Given the description of an element on the screen output the (x, y) to click on. 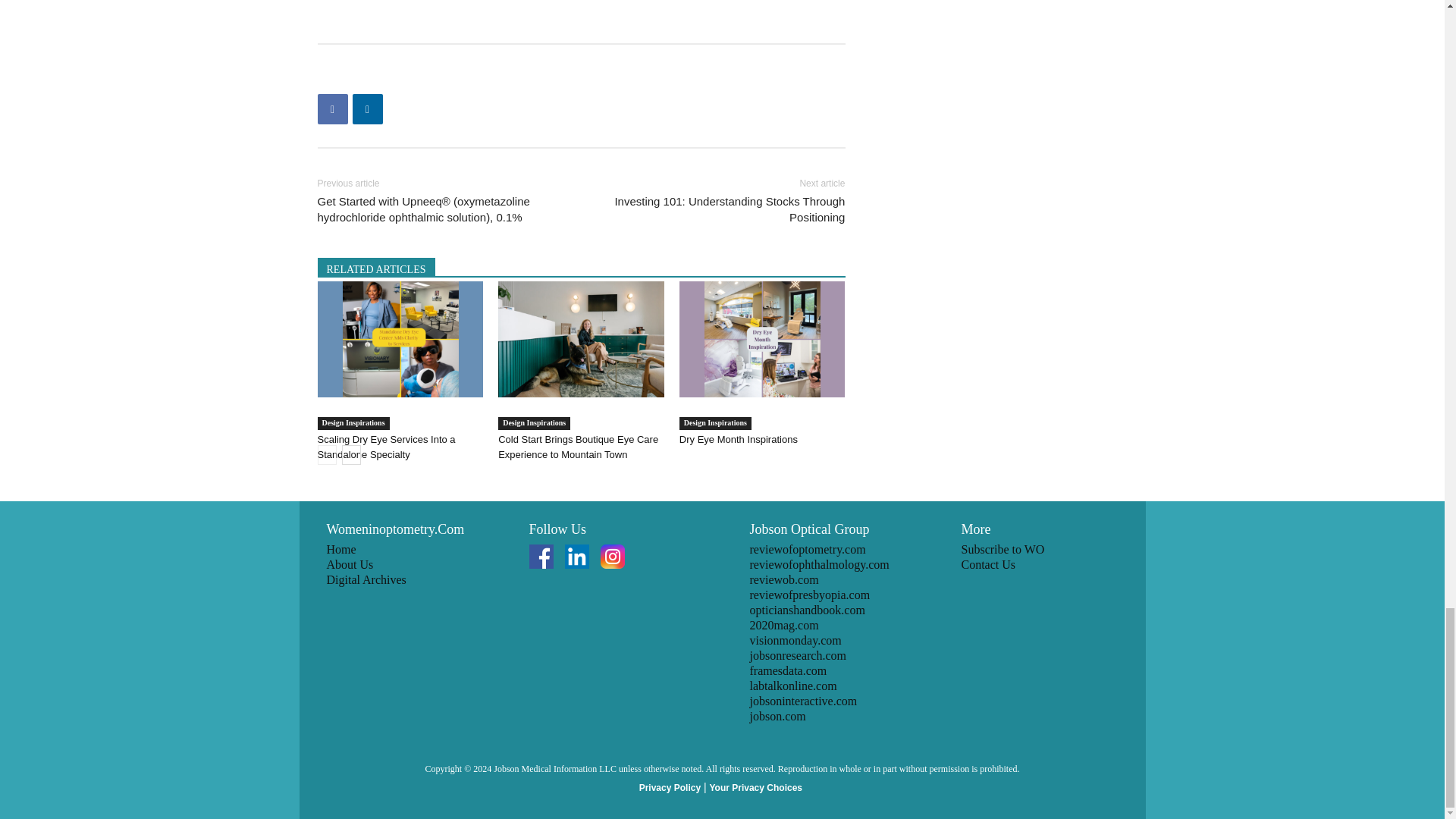
Dry Eye Month Inspirations (762, 339)
Scaling Dry Eye Services Into a Standalone Specialty (385, 447)
Dry Eye Month Inspirations (738, 439)
Scaling Dry Eye Services Into a Standalone Specialty (400, 339)
